Given the description of an element on the screen output the (x, y) to click on. 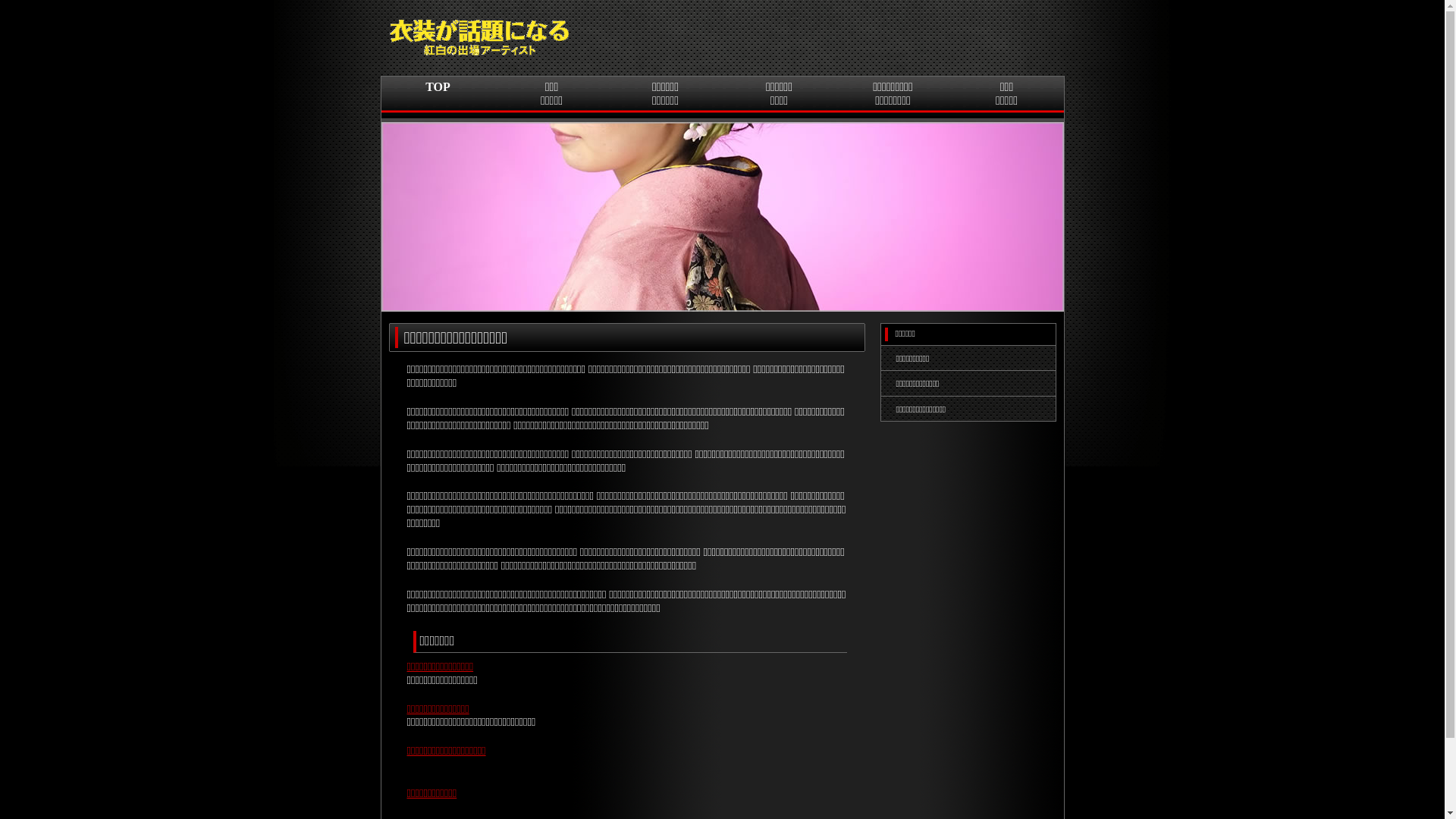
TOP Element type: text (437, 99)
